Given the description of an element on the screen output the (x, y) to click on. 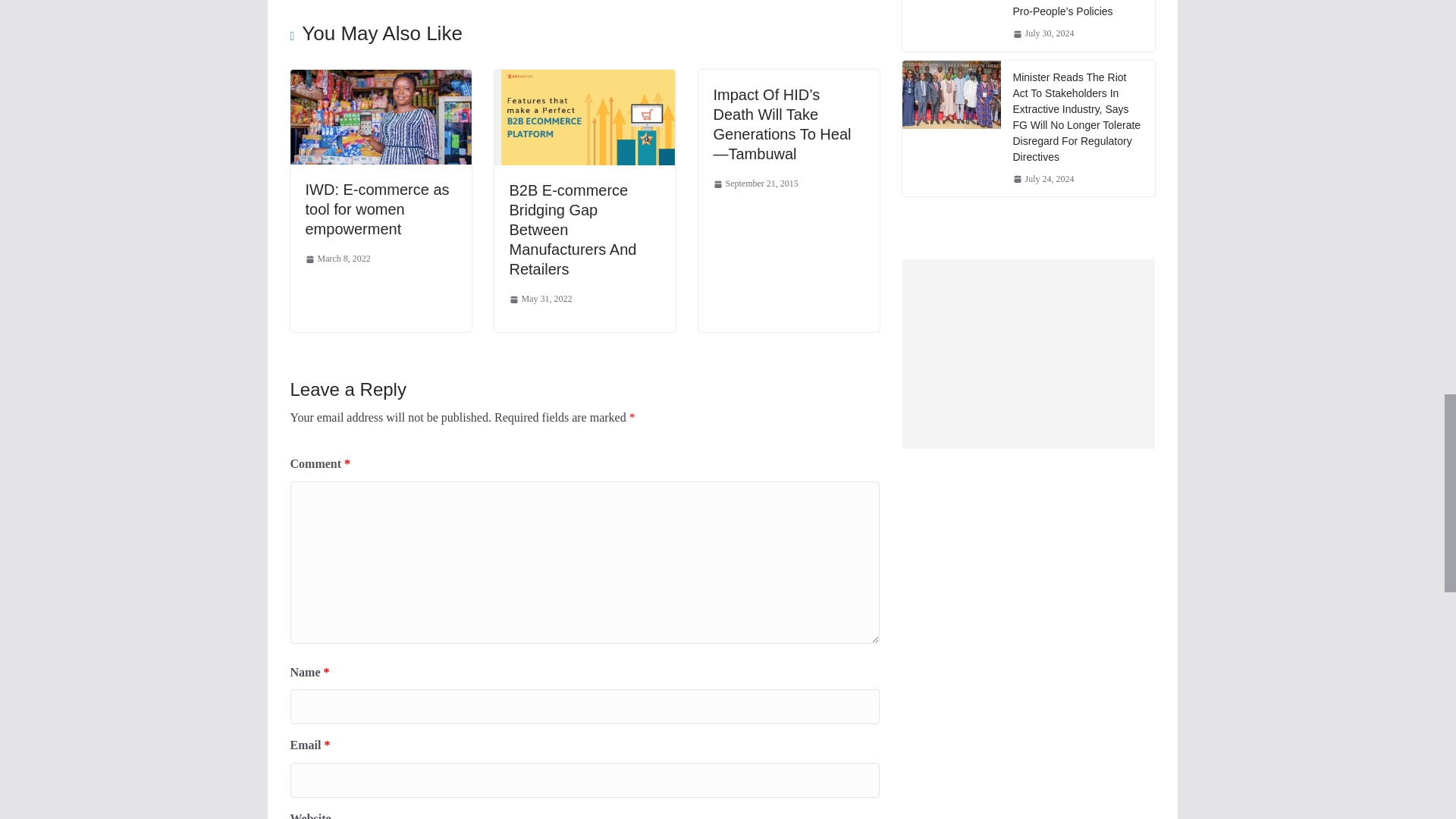
March 8, 2022 (336, 258)
IWD: E-commerce as tool for women empowerment (376, 208)
